Given the description of an element on the screen output the (x, y) to click on. 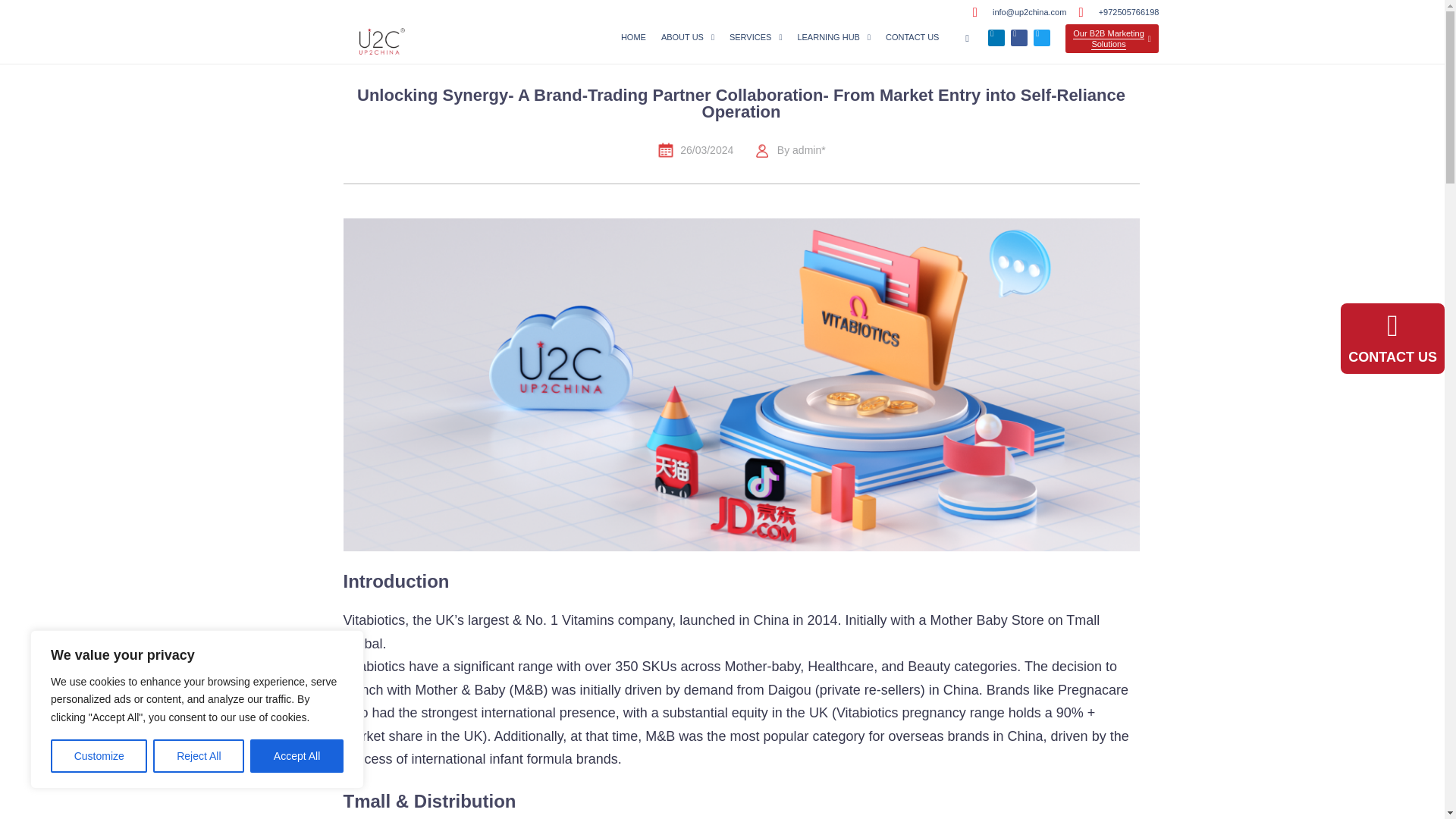
LEARNING HUB (833, 36)
Reject All (198, 756)
Customize (98, 756)
Up2china logo (380, 41)
CONTACT US (912, 36)
HOME (632, 36)
Accept All (296, 756)
SERVICES (755, 36)
ABOUT US (687, 36)
